Given the description of an element on the screen output the (x, y) to click on. 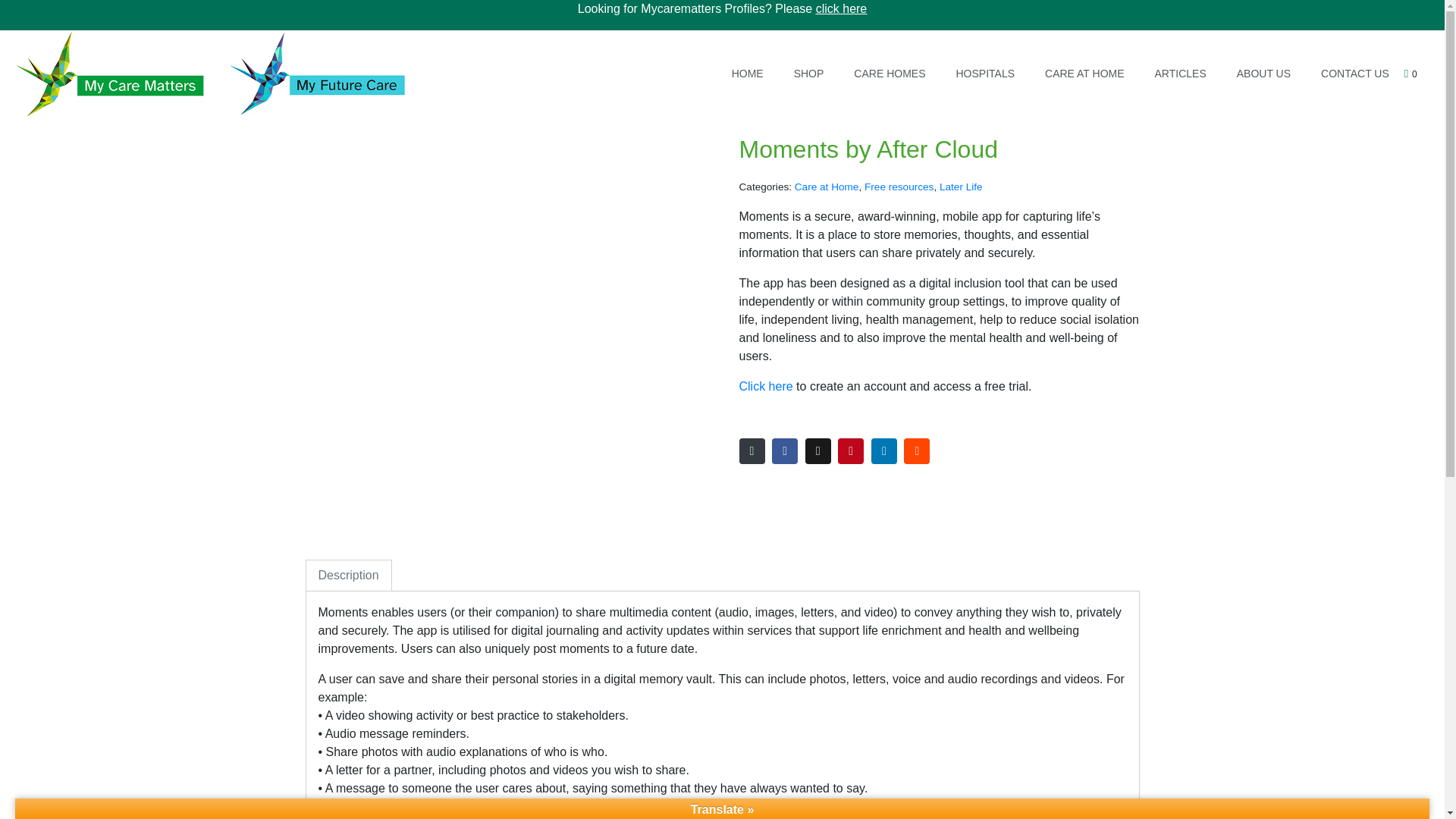
HOME (747, 73)
CARE AT HOME (1084, 73)
click here (841, 8)
SHOP (809, 73)
ARTICLES (1180, 73)
CONTACT US (1355, 73)
ABOUT US (1263, 73)
CARE HOMES (889, 73)
HOSPITALS (984, 73)
